Given the description of an element on the screen output the (x, y) to click on. 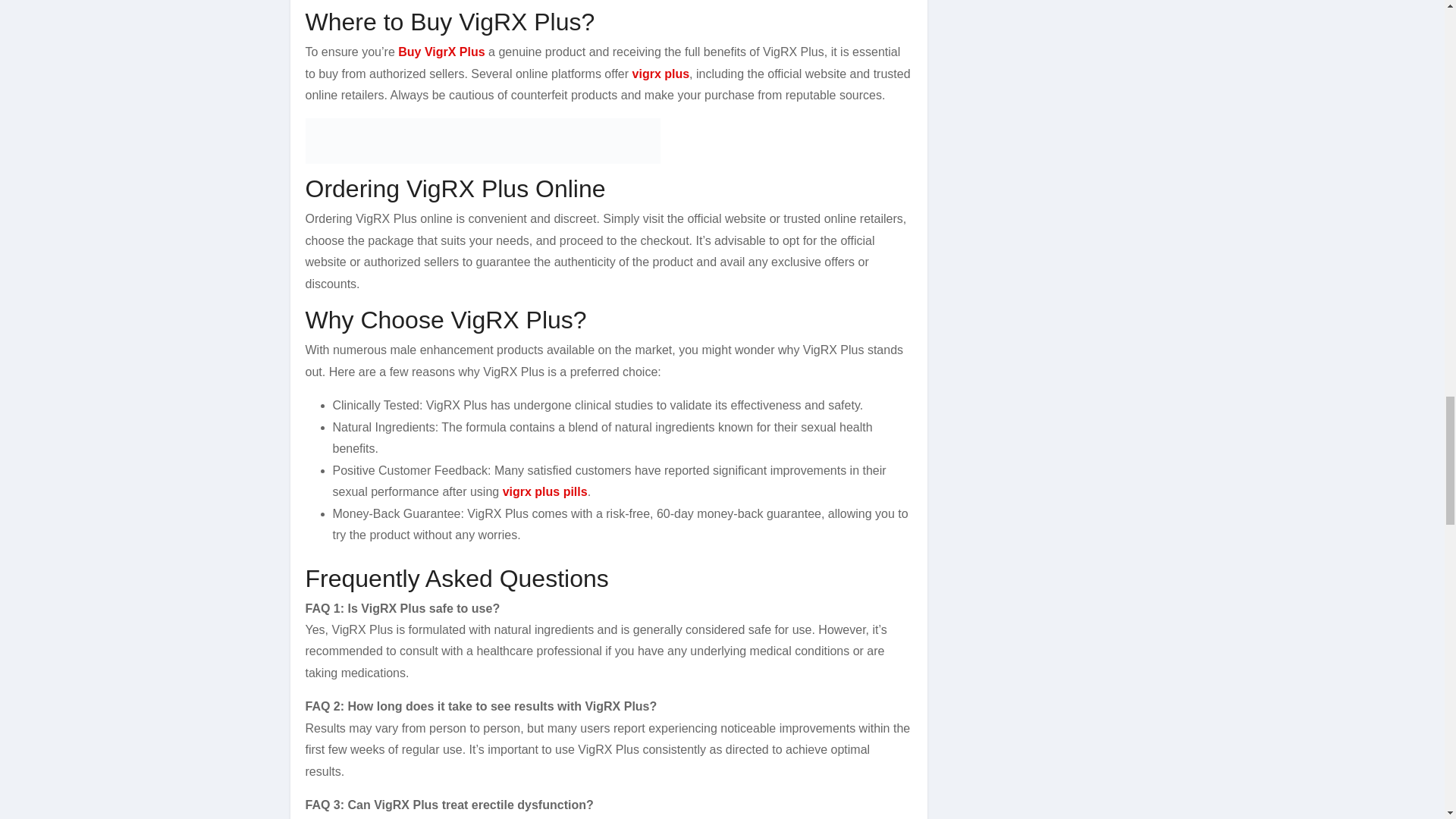
vigrx plus (660, 72)
vigrx plus pills (545, 491)
Buy VigrX Plus (440, 51)
